Given the description of an element on the screen output the (x, y) to click on. 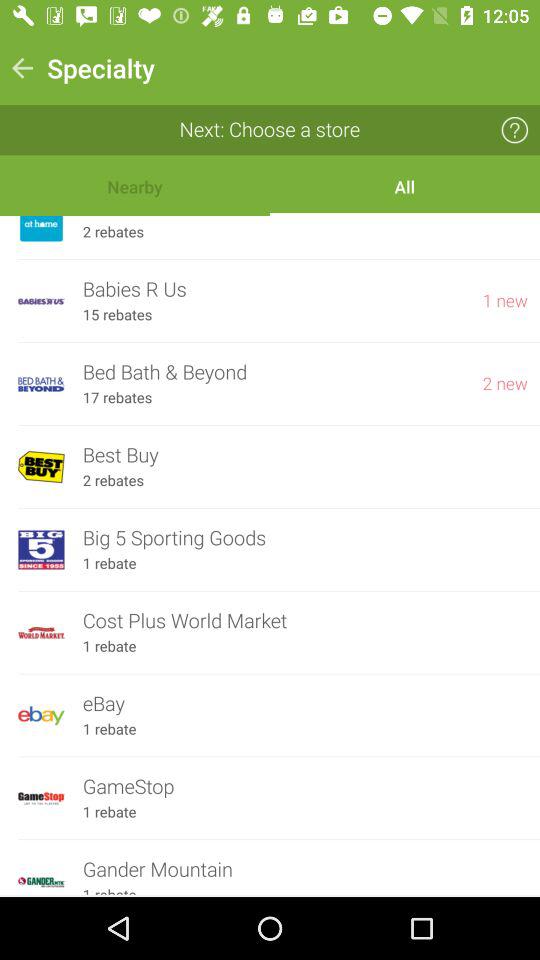
click on back button (22, 68)
